Given the description of an element on the screen output the (x, y) to click on. 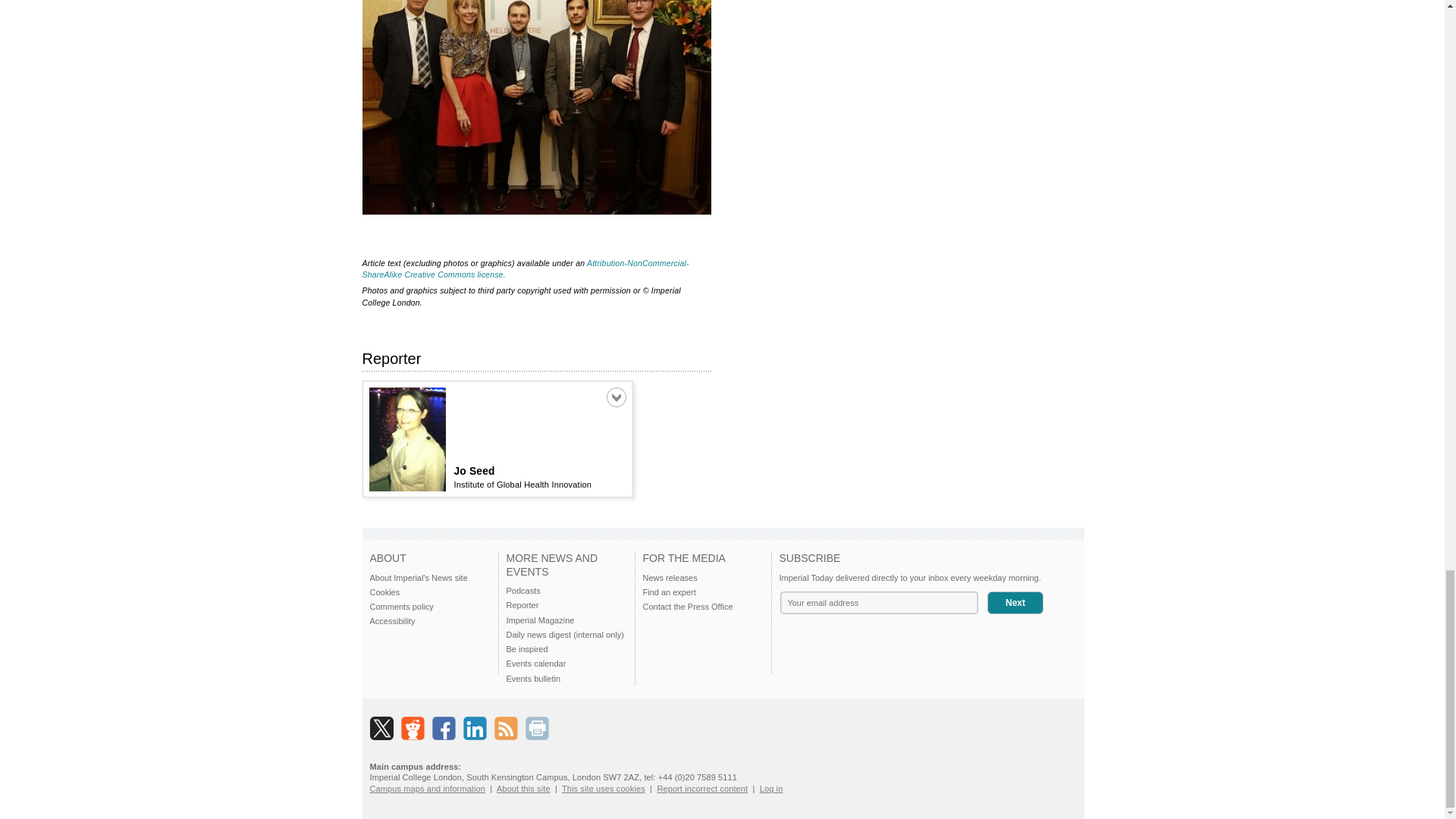
Click to expand or contract (616, 397)
Some of the Helix team (536, 107)
